Given the description of an element on the screen output the (x, y) to click on. 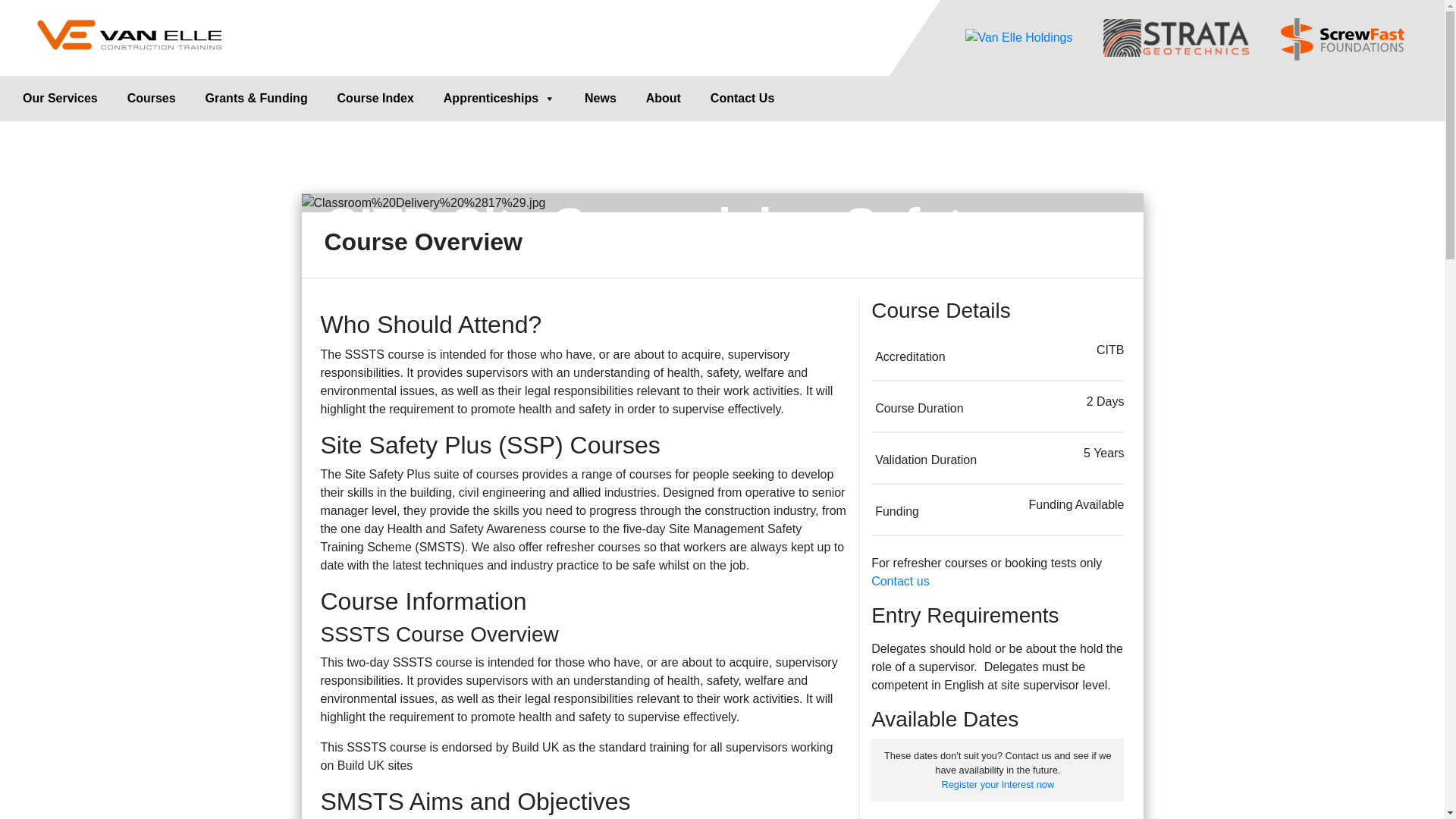
About (663, 98)
News (600, 98)
Register your interest now (997, 784)
Our Services (59, 98)
Apprenticeships (498, 98)
Contact Us (742, 98)
Contact us (899, 581)
Courses (151, 98)
Course Index (376, 98)
